Given the description of an element on the screen output the (x, y) to click on. 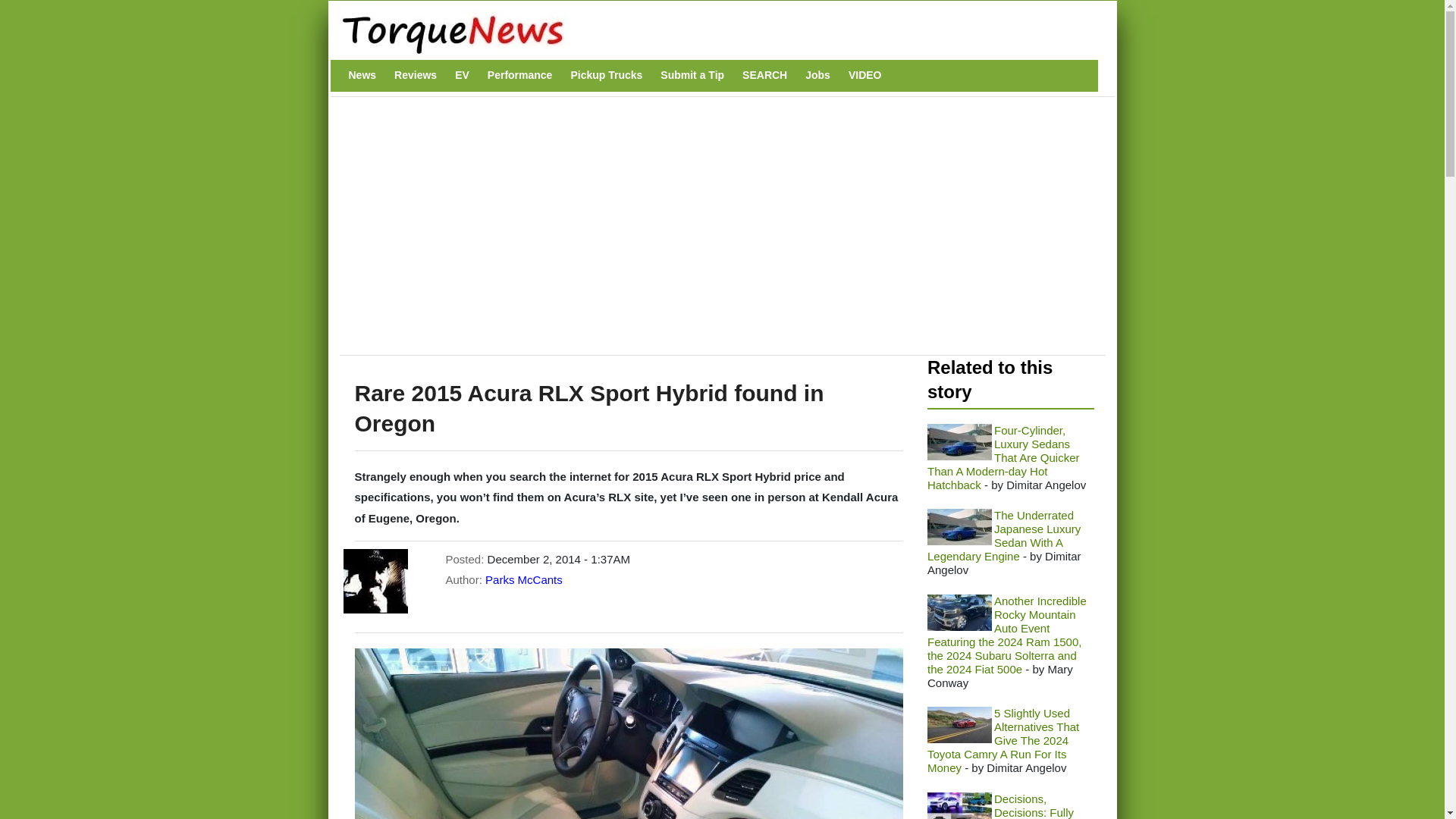
Parks McCants (523, 579)
SEARCH (764, 75)
Submit a Tip (691, 75)
Pickup Trucks (605, 75)
View user profile. (523, 579)
Jobs (817, 75)
VIDEO (865, 75)
News (362, 75)
Reviews (415, 75)
